Given the description of an element on the screen output the (x, y) to click on. 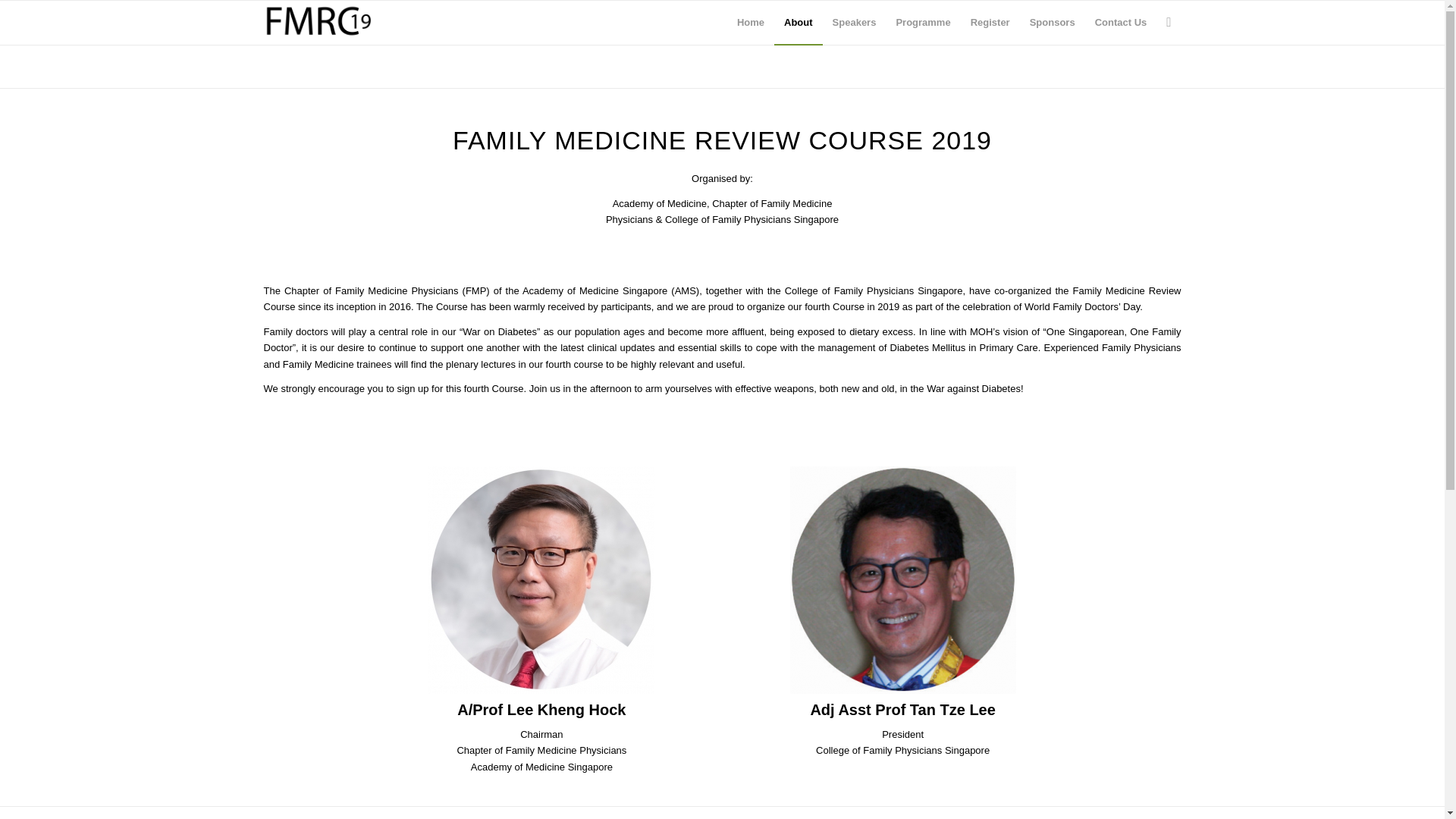
Adj Asst Prof Tan Tze Lee (903, 579)
About (798, 22)
Register (990, 22)
Programme (922, 22)
Contact Us (1120, 22)
Speakers (854, 22)
Sponsors (1052, 22)
Home (750, 22)
